Given the description of an element on the screen output the (x, y) to click on. 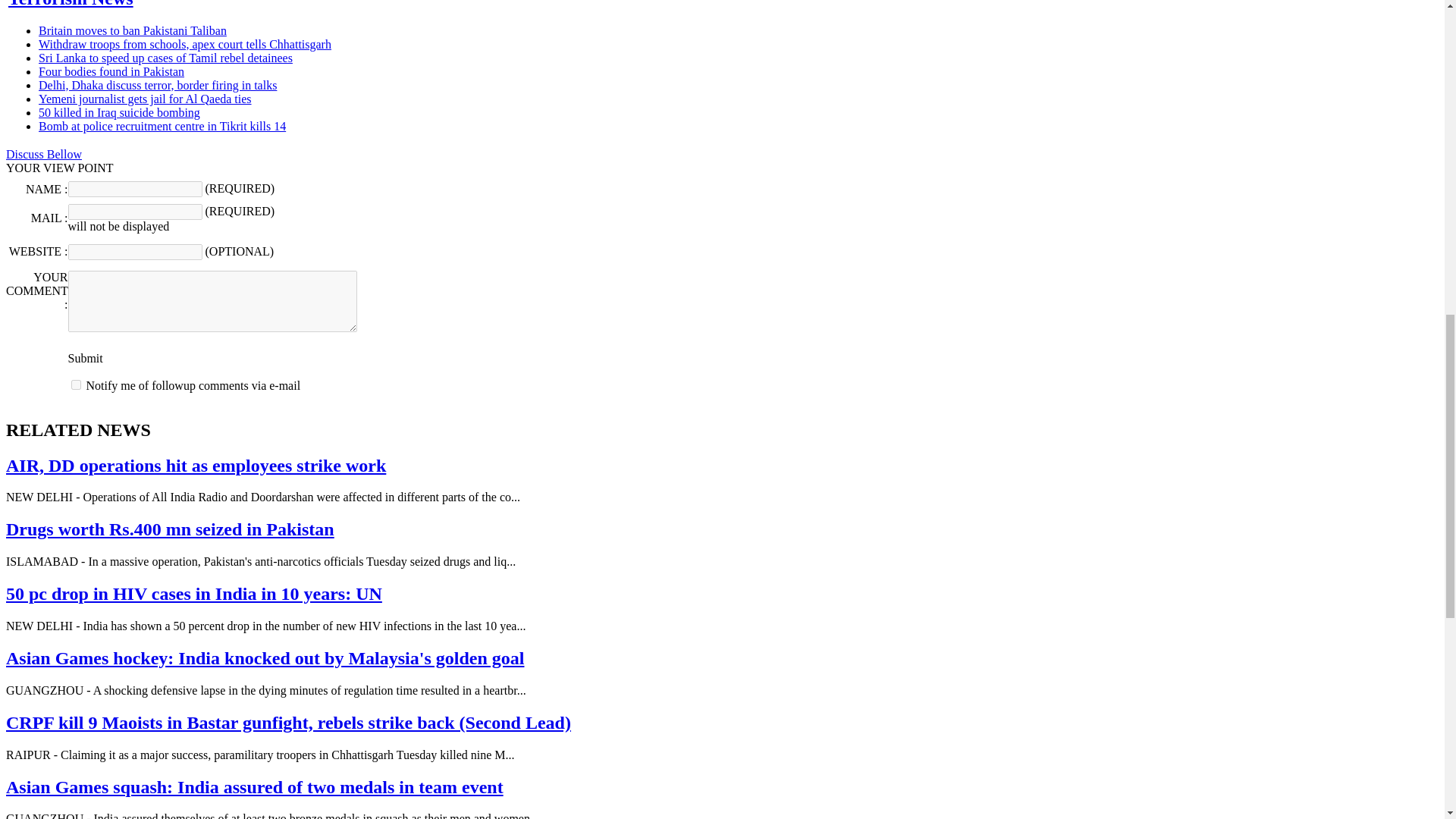
Delhi, Dhaka discuss terror, border firing in talks (157, 84)
Four bodies found in Pakistan (111, 71)
Britain moves to ban Pakistani Taliban (133, 30)
subscribe (76, 384)
Terrorism News (70, 4)
Withdraw troops from schools, apex court tells Chhattisgarh (185, 43)
Sri Lanka to speed up cases of Tamil rebel detainees (165, 57)
